Given the description of an element on the screen output the (x, y) to click on. 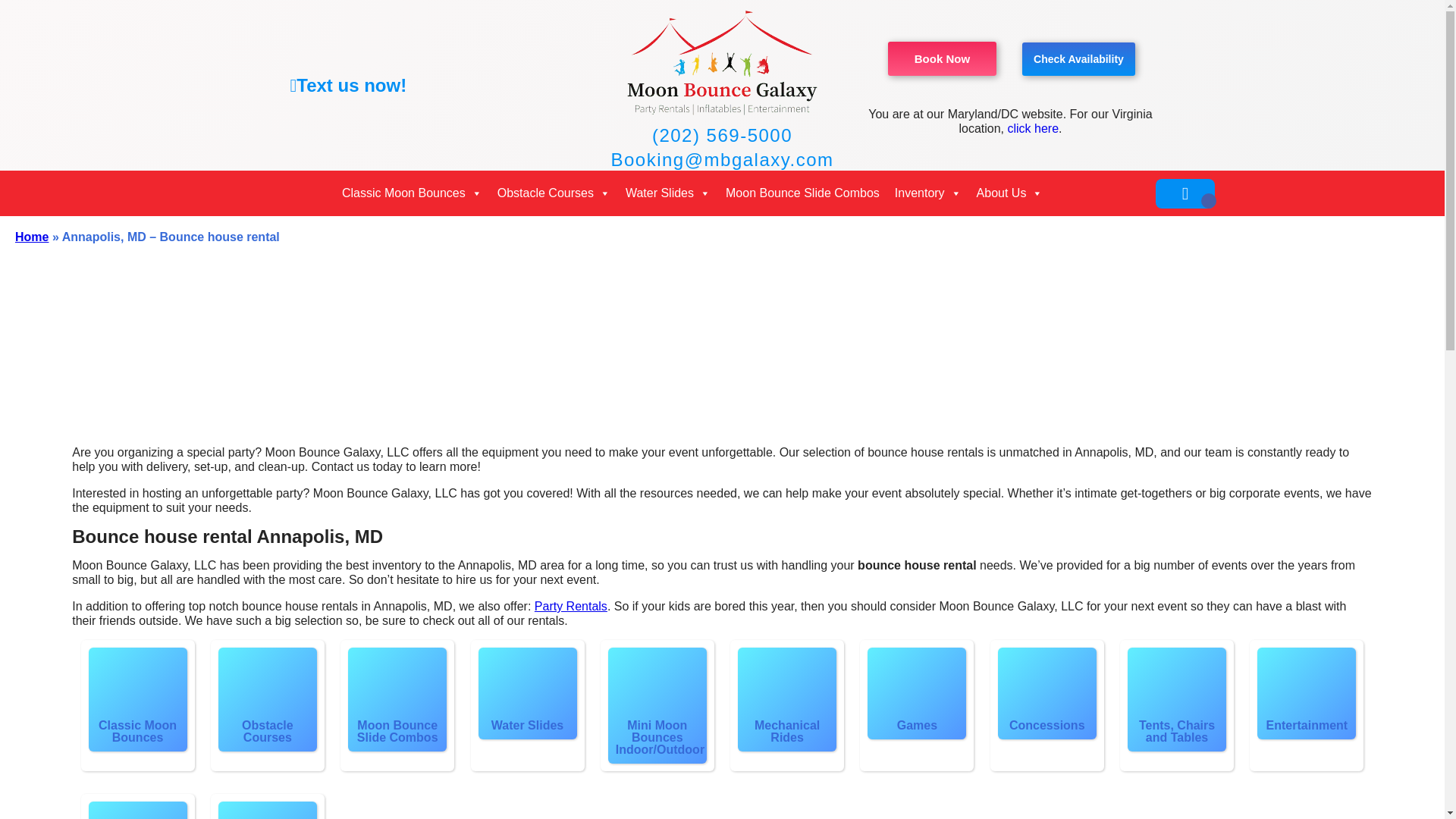
Classic Moon Bounces (411, 193)
Text us now! (351, 85)
Book Now (941, 58)
Check Availability (1078, 59)
click here (1032, 128)
